Given the description of an element on the screen output the (x, y) to click on. 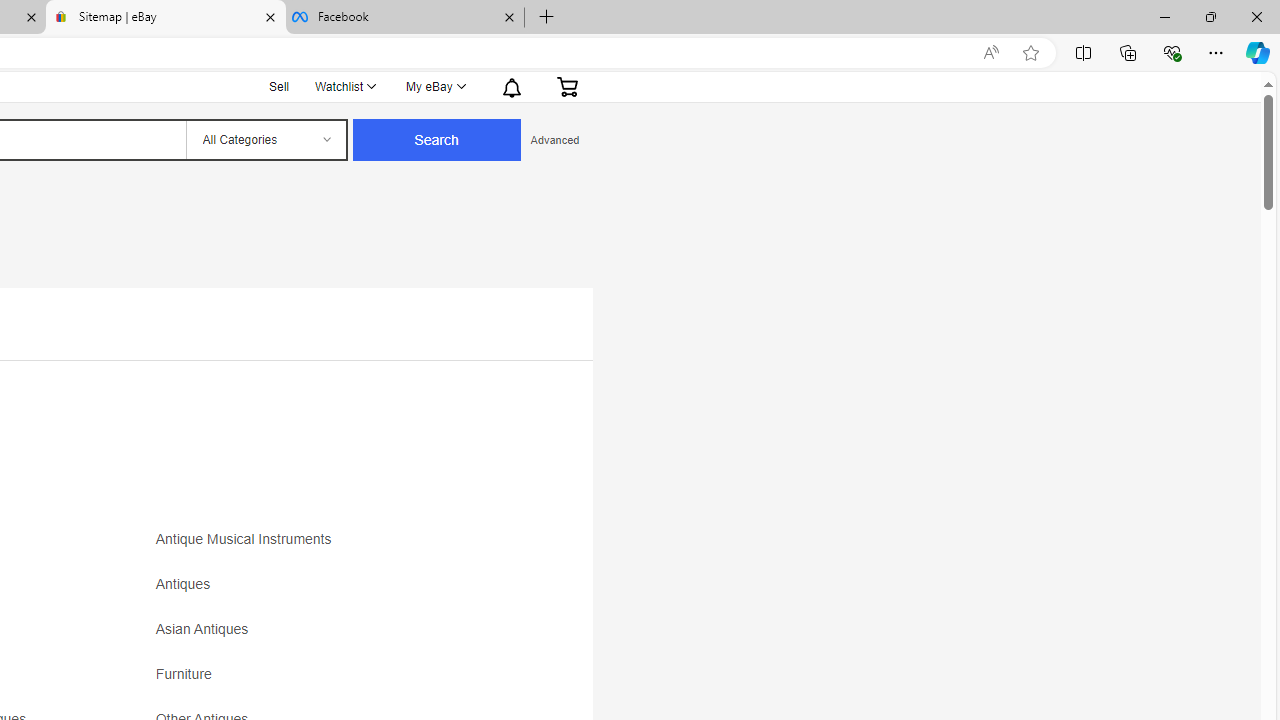
Notification (510, 86)
Notification (512, 86)
Antique Musical Instruments (332, 546)
Sitemap | eBay (166, 17)
Antiques (332, 591)
Antiques (187, 583)
Antique Musical Instruments (247, 539)
WatchlistExpand Watch List (344, 86)
